Given the description of an element on the screen output the (x, y) to click on. 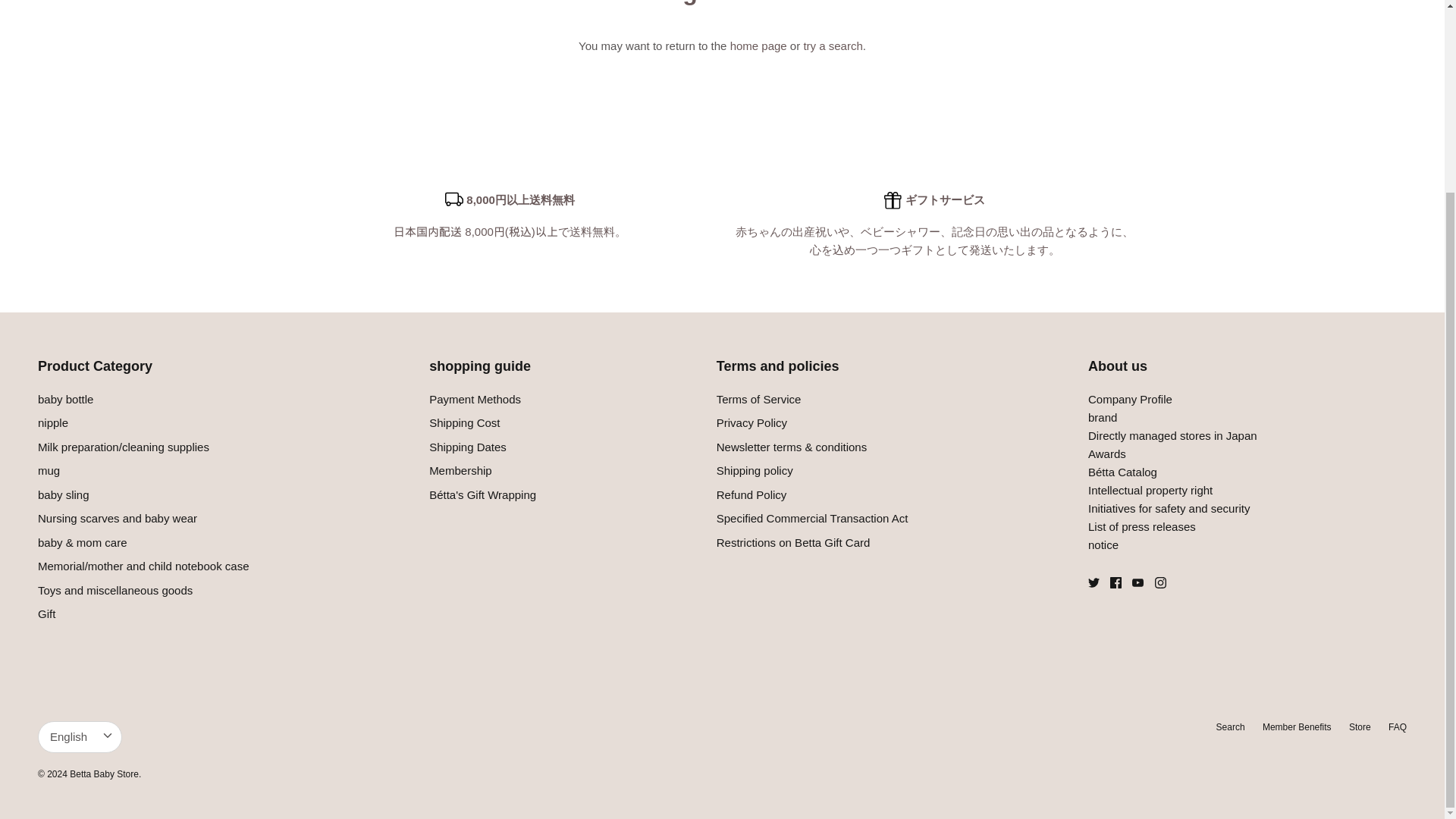
Awards (1106, 453)
Company Profile (1129, 399)
Awards (1122, 472)
Initiatives for safety and security (1168, 508)
About the brand (1101, 417)
notice (1102, 544)
List of press releases (1141, 526)
Directly managed stores in Japan (1172, 435)
